Given the description of an element on the screen output the (x, y) to click on. 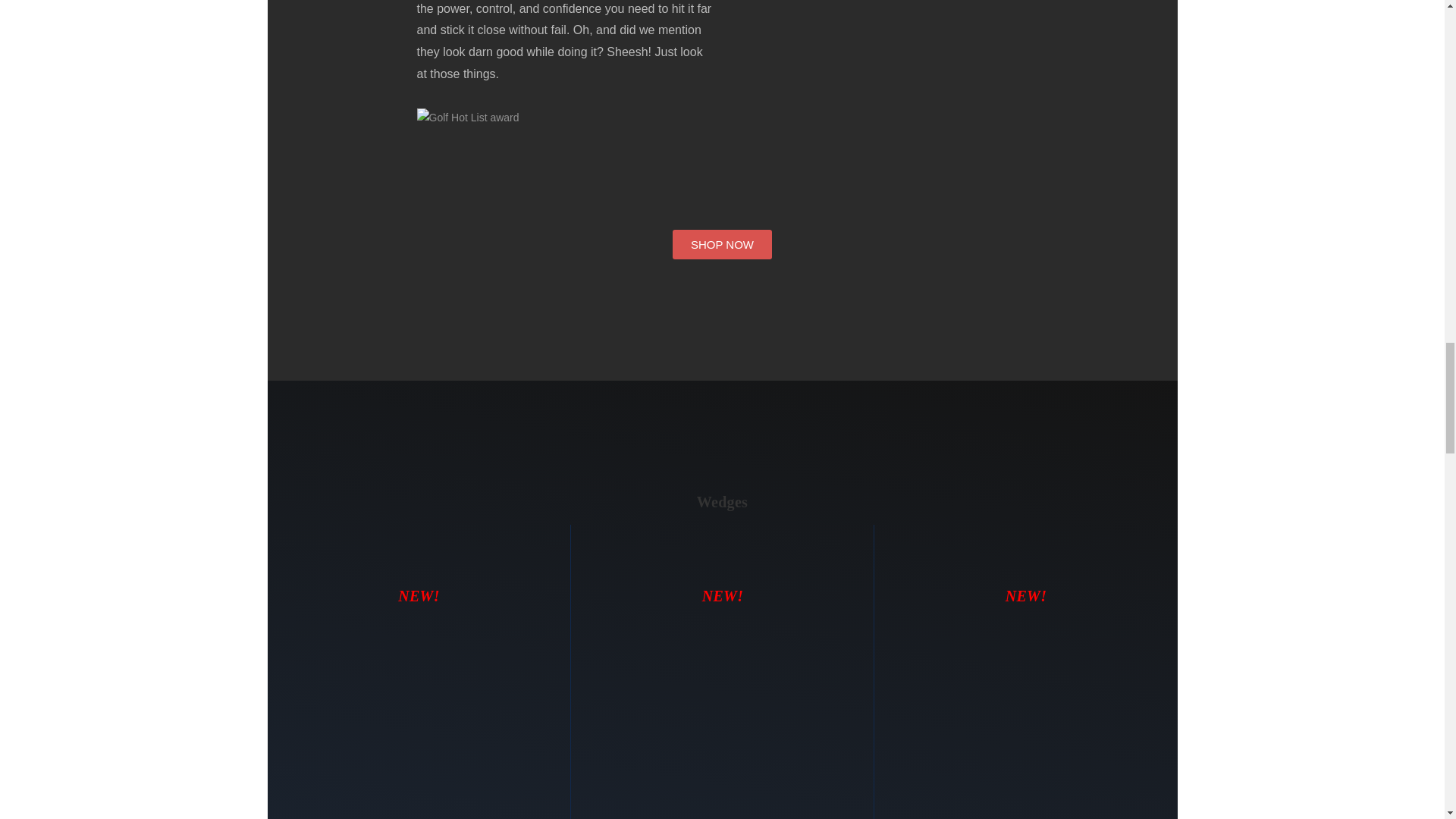
SHOP NOW (721, 244)
